Given the description of an element on the screen output the (x, y) to click on. 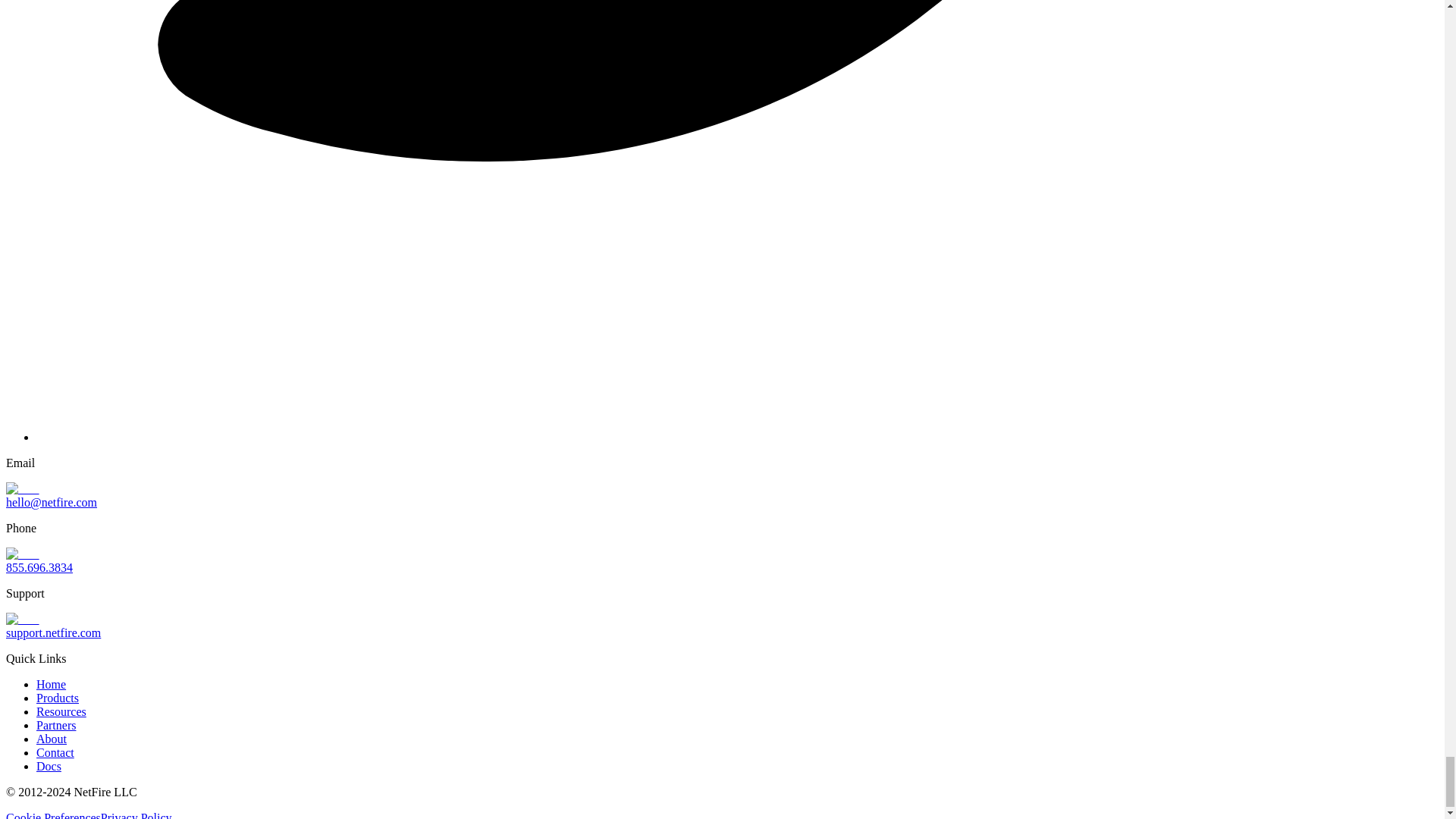
Products (57, 697)
Contact (55, 752)
Partners (55, 725)
Docs (48, 766)
About (51, 738)
Home (50, 684)
Resources (60, 711)
